Given the description of an element on the screen output the (x, y) to click on. 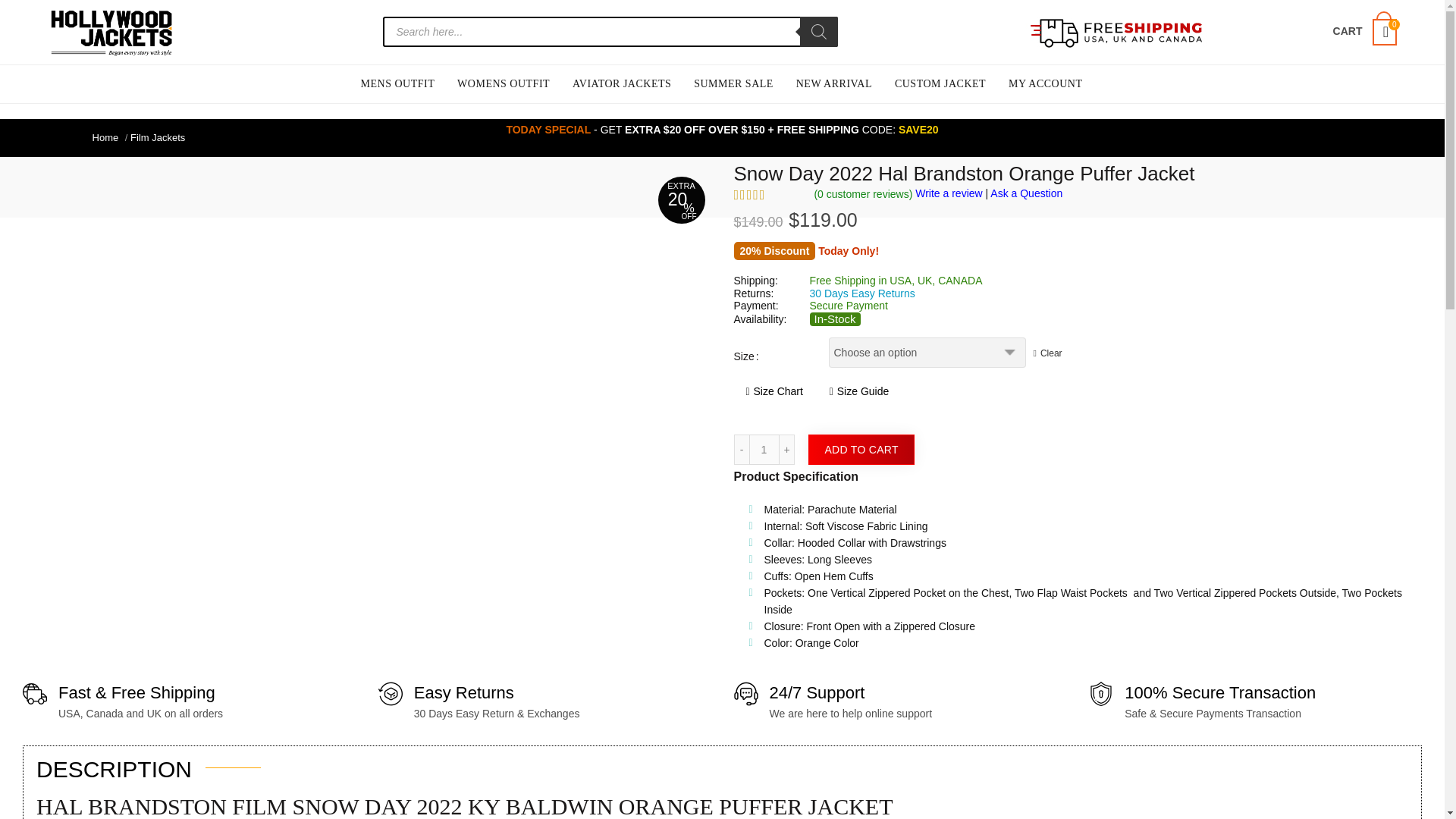
Qty (763, 449)
1 (763, 449)
Rated 0 out of 5 (768, 194)
customer-support (745, 693)
